Given the description of an element on the screen output the (x, y) to click on. 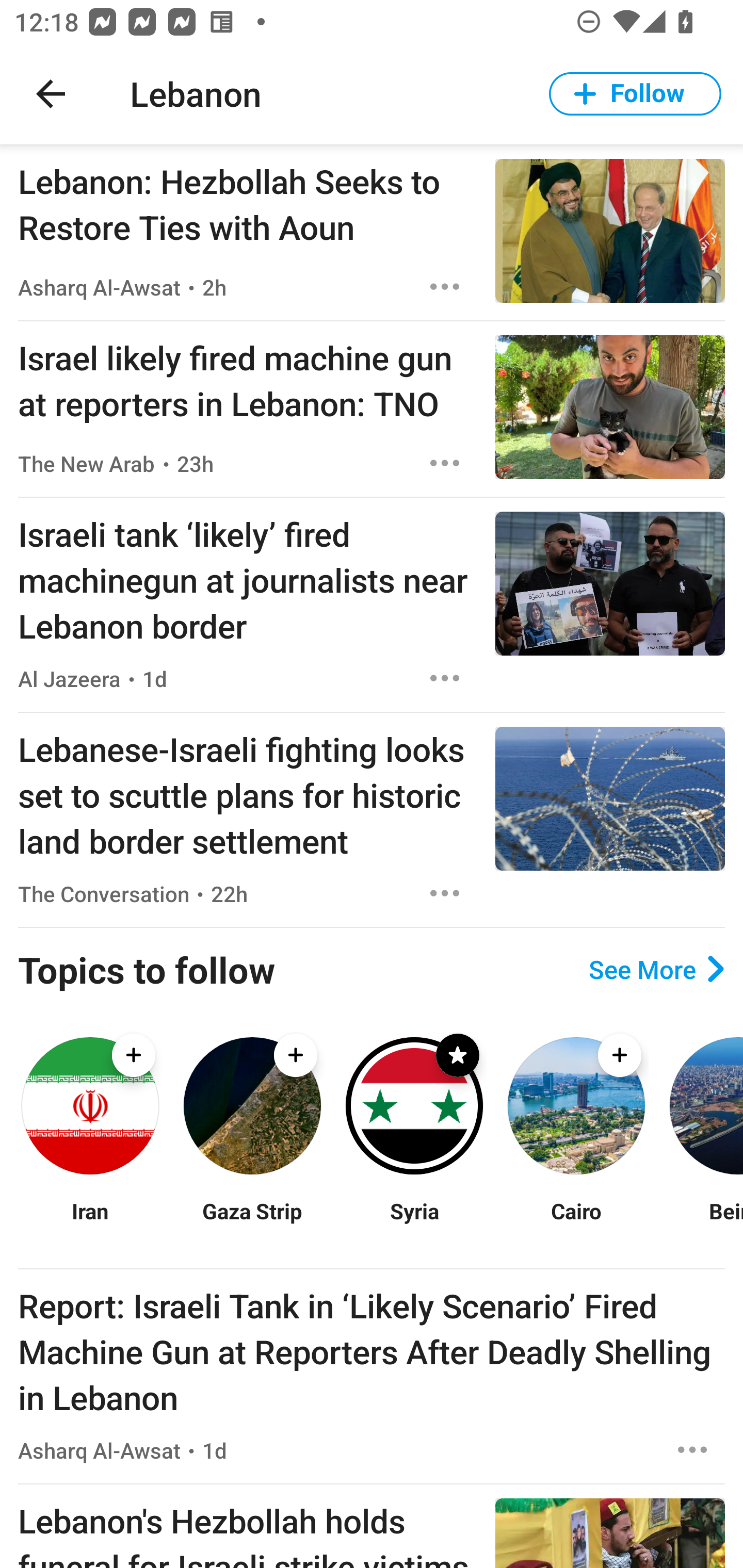
Navigate up (50, 93)
Follow (635, 94)
Options (444, 286)
Options (444, 463)
Options (444, 677)
Options (444, 893)
See More (656, 968)
Iran (89, 1223)
Gaza Strip (251, 1223)
Syria (413, 1223)
Cairo (575, 1223)
Options (692, 1449)
